Given the description of an element on the screen output the (x, y) to click on. 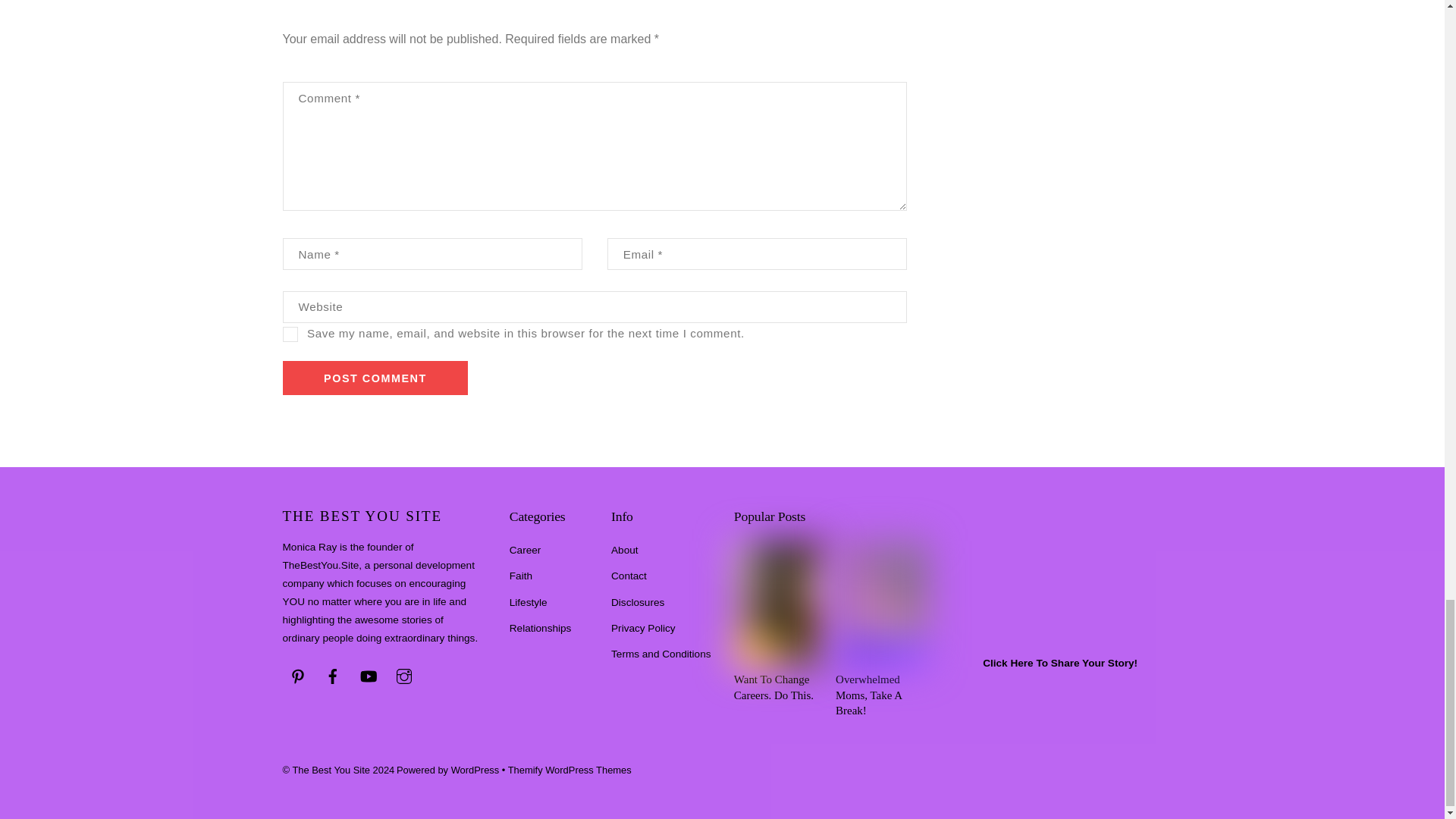
yes (289, 334)
The Best You Site (362, 515)
Post Comment (374, 378)
